Given the description of an element on the screen output the (x, y) to click on. 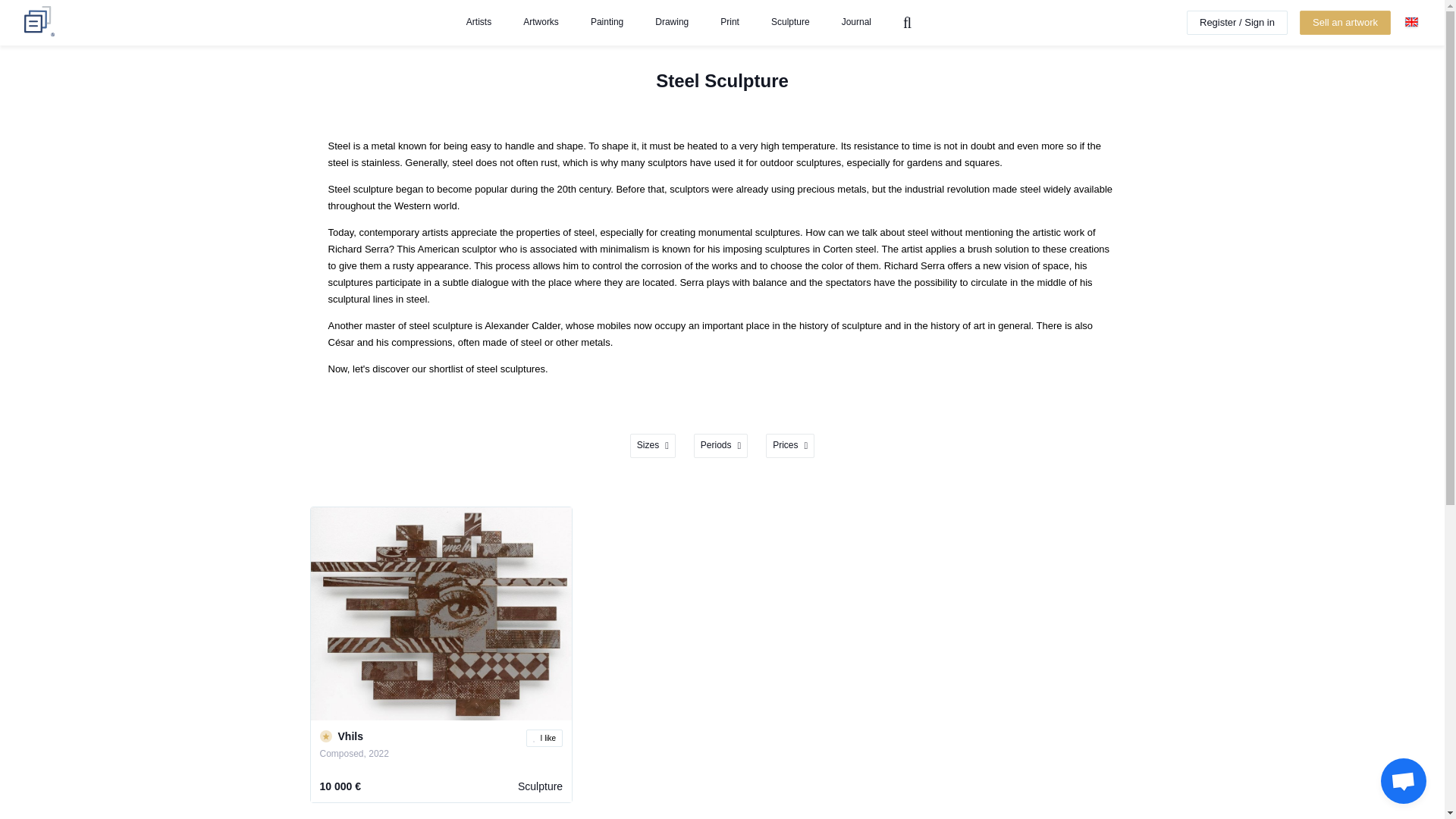
Painting (607, 24)
Artworks (540, 24)
Artists (477, 24)
